Given the description of an element on the screen output the (x, y) to click on. 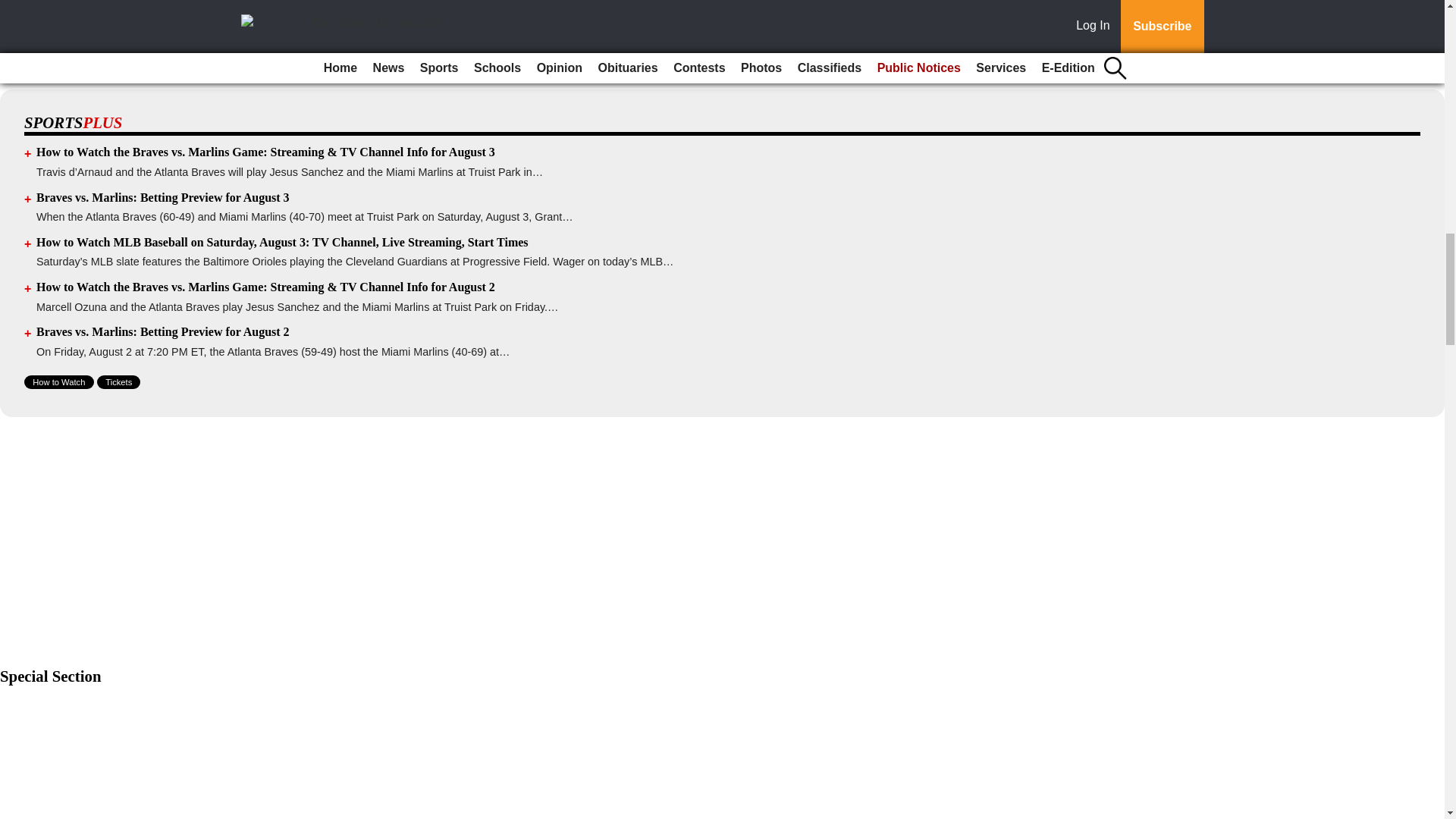
Braves vs. Marlins: Betting Preview for August 2 (162, 331)
Tickets (118, 382)
How to Watch (59, 382)
Braves vs. Marlins: Betting Preview for August 3 (162, 196)
